Given the description of an element on the screen output the (x, y) to click on. 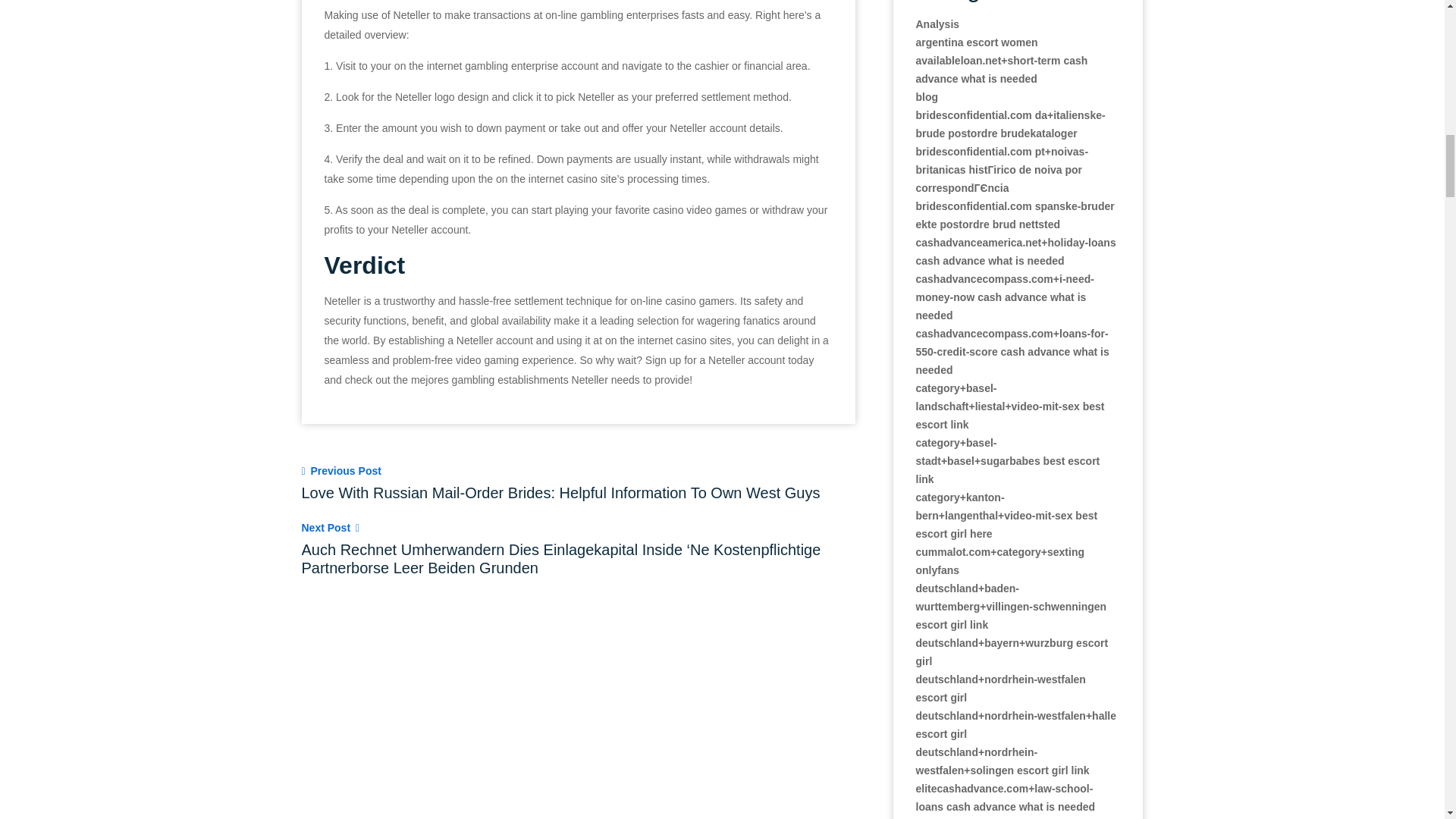
Analysis (937, 24)
